Given the description of an element on the screen output the (x, y) to click on. 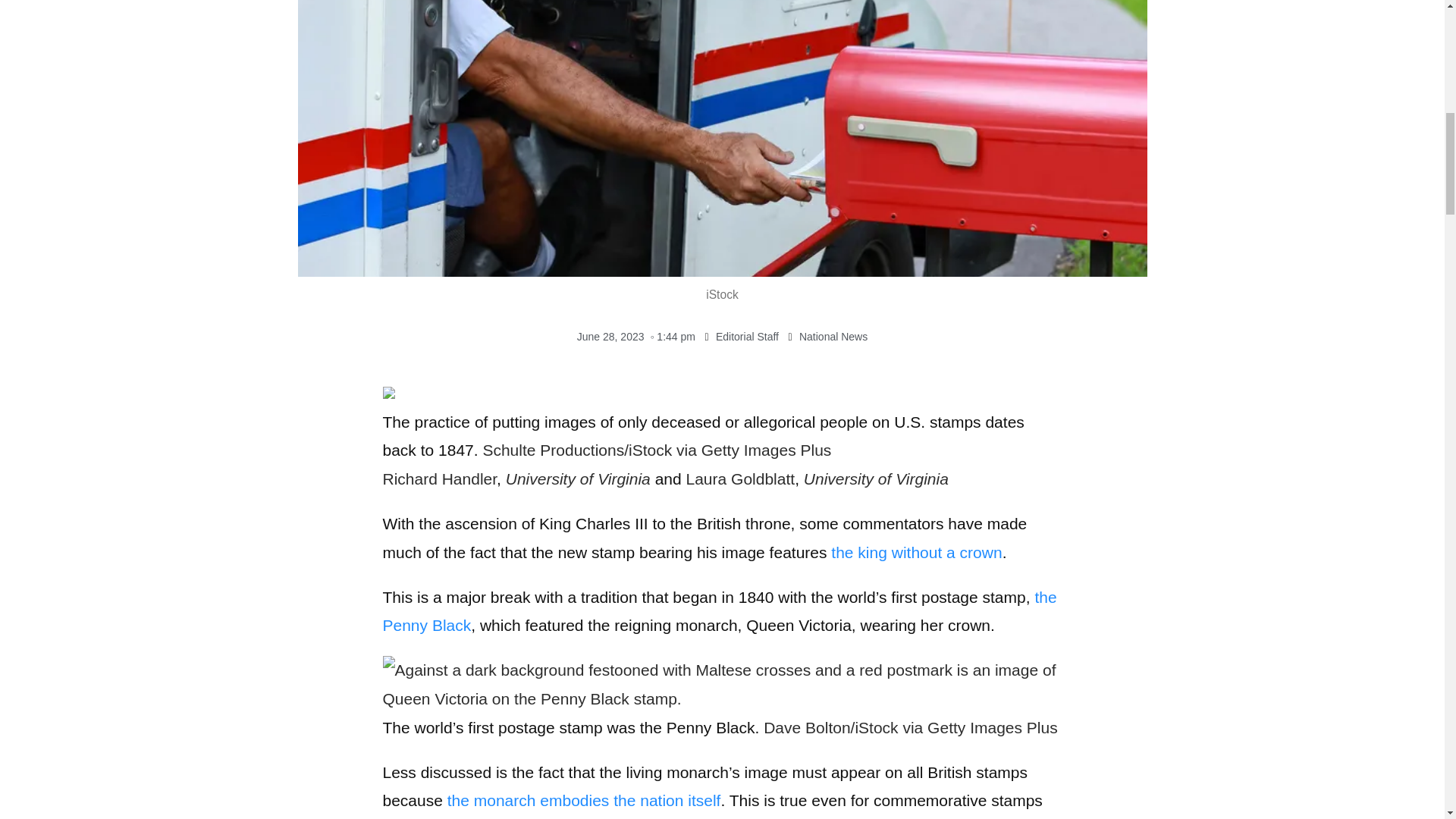
Richard Handler (438, 478)
the Penny Black (719, 611)
the king without a crown (916, 552)
Laura Goldblatt (739, 478)
University of Virginia (876, 478)
the monarch embodies the nation itself (583, 800)
University of Virginia (577, 478)
National News (833, 336)
